Given the description of an element on the screen output the (x, y) to click on. 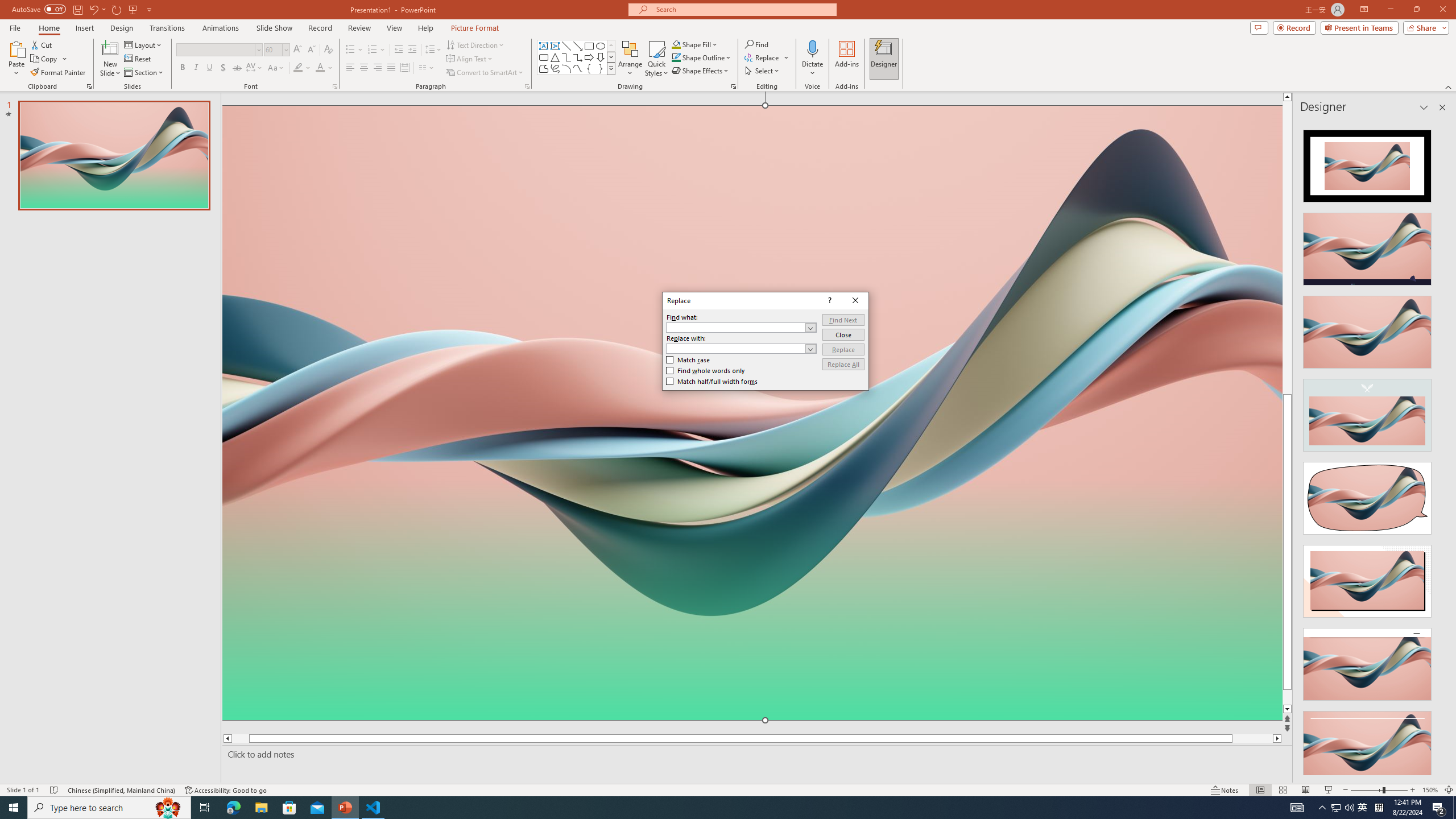
Find what (740, 327)
